Given the description of an element on the screen output the (x, y) to click on. 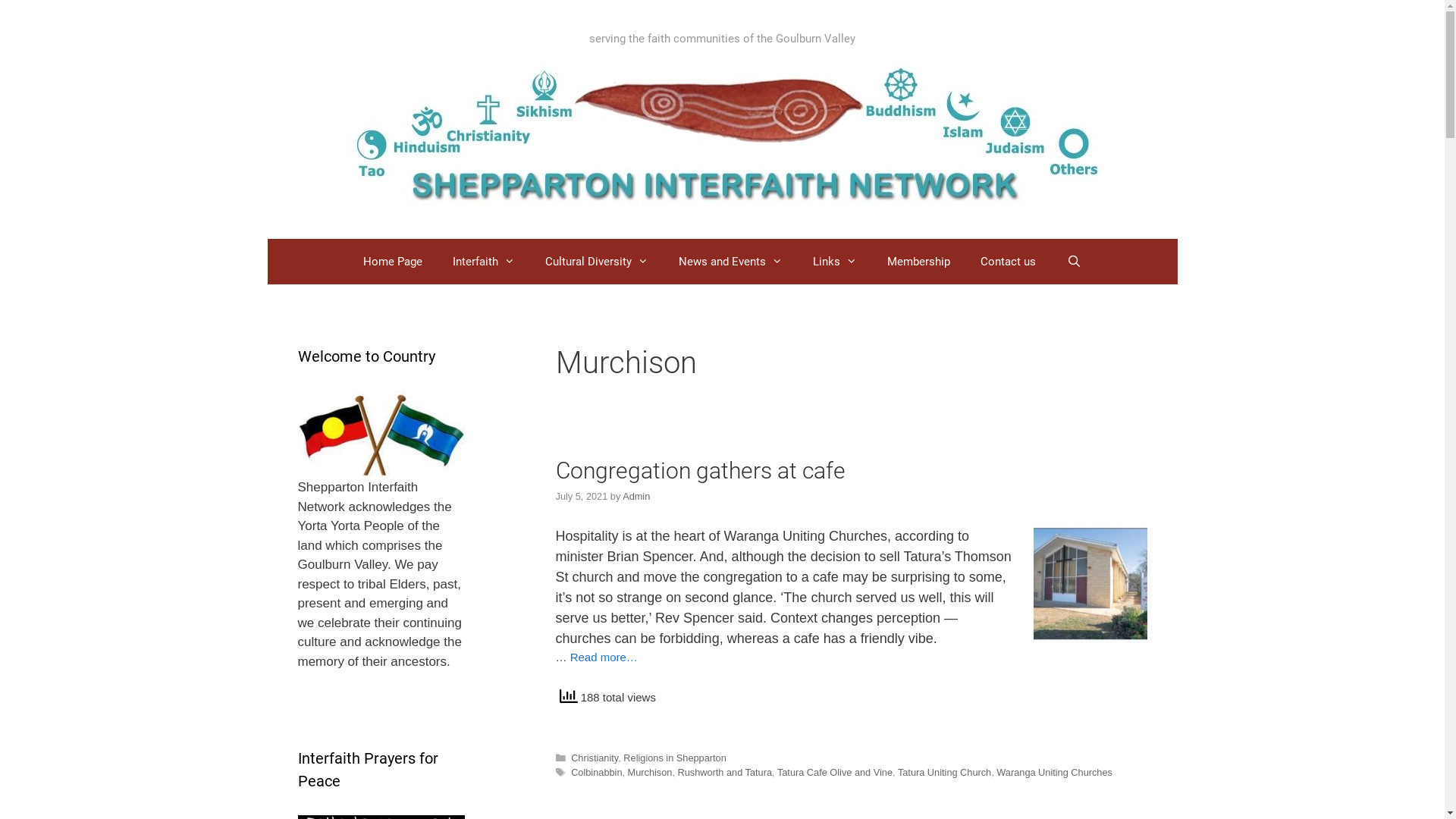
Tatura Uniting Church Element type: text (944, 772)
Waranga Uniting Churches Element type: text (1054, 772)
Cultural Diversity Element type: text (596, 260)
Christianity Element type: text (594, 757)
Membership Element type: text (918, 260)
Links Element type: text (834, 260)
Interfaith Element type: text (483, 260)
Religions in Shepparton Element type: text (674, 757)
Murchison Element type: text (649, 772)
Congregation gathers at cafe Element type: text (699, 469)
Contact us Element type: text (1008, 260)
Home Page Element type: text (392, 260)
Admin Element type: text (635, 496)
News and Events Element type: text (730, 260)
Tatura Cafe Olive and Vine Element type: text (834, 772)
Colbinabbin Element type: text (596, 772)
Rushworth and Tatura Element type: text (724, 772)
